Given the description of an element on the screen output the (x, y) to click on. 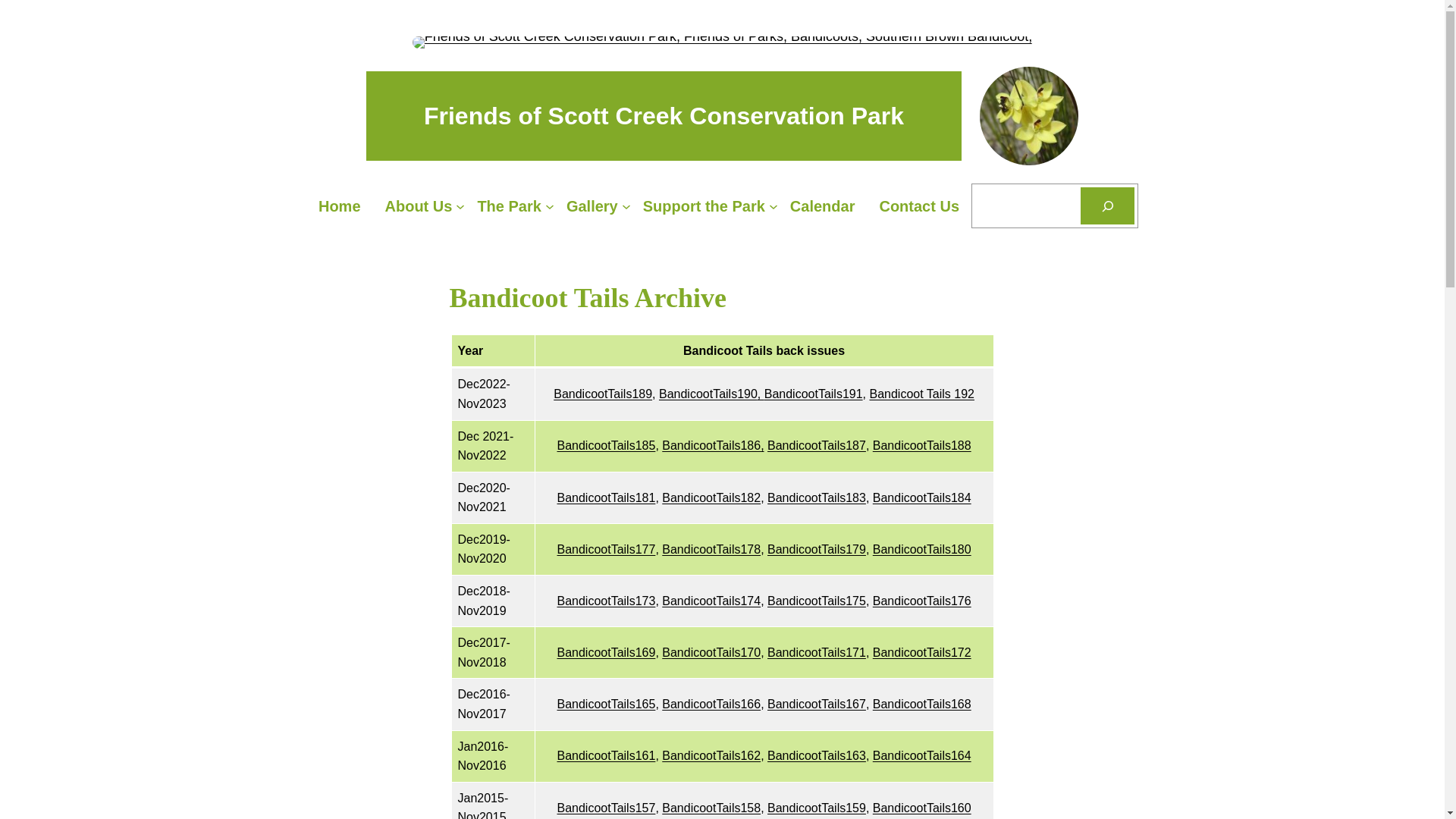
BandicootTails163 Element type: text (816, 755)
Calendar Element type: text (822, 205)
BandicootTails188 Element type: text (921, 445)
BandicootTails189 Element type: text (602, 393)
BandicootTails161 Element type: text (605, 755)
About Us Element type: text (419, 205)
BandicootTails178 Element type: text (711, 548)
BandicootTails158 Element type: text (711, 807)
BandicootTails187 Element type: text (816, 445)
BandicootTails157 Element type: text (605, 807)
BandicootTails169 Element type: text (605, 652)
BandicootTails164 Element type: text (921, 755)
BandicootTails184 Element type: text (921, 497)
BandicootTails173 Element type: text (605, 600)
BandicootTails175 Element type: text (816, 600)
Bandicoot Tails 192 Element type: text (921, 393)
BandicootTails168 Element type: text (921, 703)
BandicootTails165 Element type: text (605, 703)
BandicootTails186, Element type: text (712, 445)
The Park Element type: text (508, 205)
BandicootTails180 Element type: text (921, 548)
BandicootTails162 Element type: text (711, 755)
Contact Us Element type: text (918, 205)
BandicootTails182 Element type: text (711, 497)
BandicootTails190 Element type: text (707, 393)
BandicootTails167 Element type: text (816, 703)
BandicootTails179 Element type: text (816, 548)
Support the Park Element type: text (704, 205)
BandicootTails177 Element type: text (605, 548)
BandicootTails160 Element type: text (921, 807)
, Element type: text (760, 393)
BandicootTails170 Element type: text (711, 652)
Gallery Element type: text (592, 205)
BandicootTails166 Element type: text (711, 703)
BandicootTails171 Element type: text (816, 652)
BandicootTails185 Element type: text (605, 445)
BandicootTails183 Element type: text (816, 497)
BandicootTails172 Element type: text (921, 652)
BandicootTails174 Element type: text (711, 600)
BandicootTails191 Element type: text (813, 393)
Home Element type: text (339, 205)
BandicootTails181 Element type: text (605, 497)
BandicootTails176 Element type: text (921, 600)
BandicootTails159 Element type: text (816, 807)
